Given the description of an element on the screen output the (x, y) to click on. 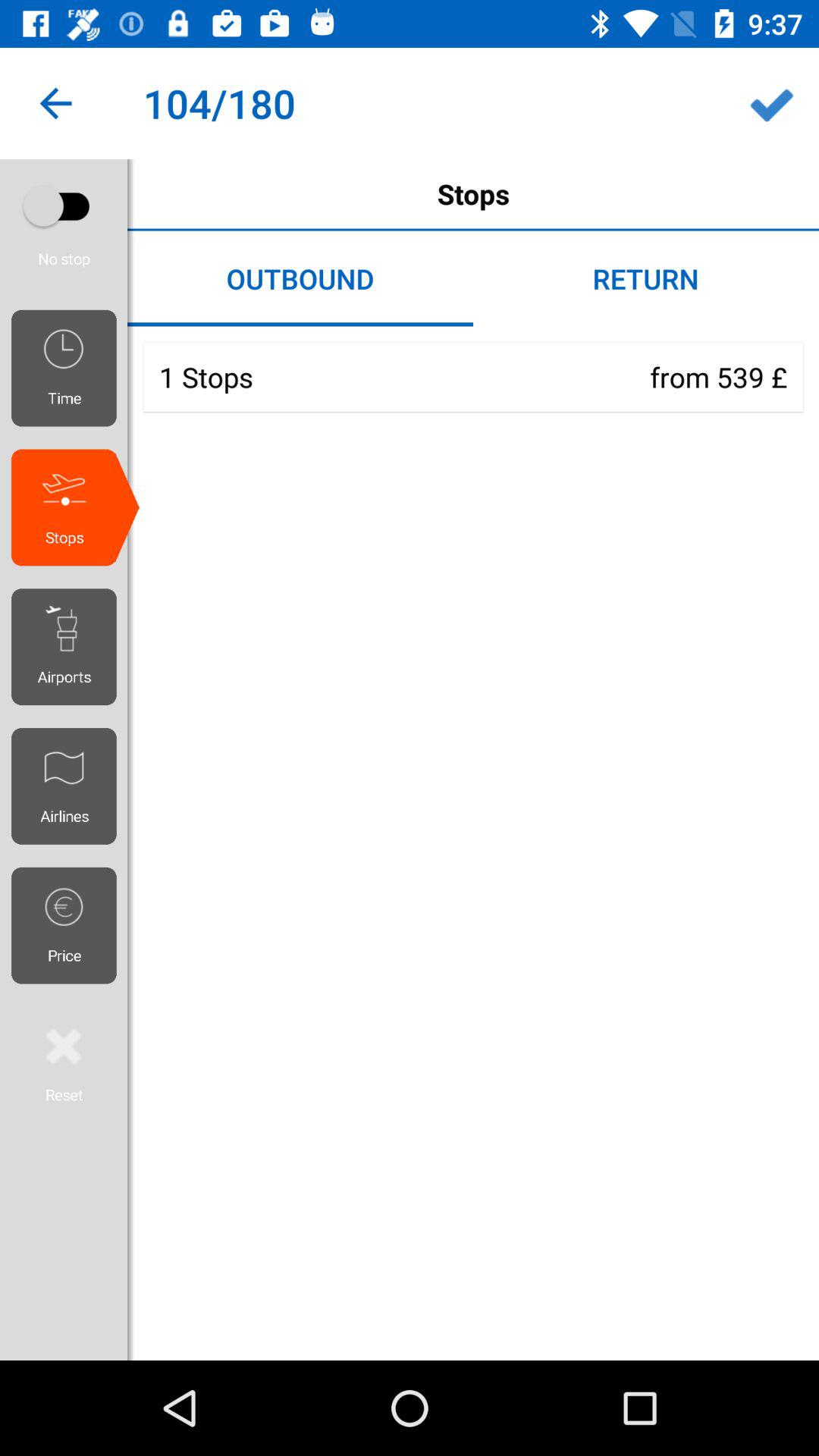
turn on item to the left of 1 stops icon (69, 367)
